Given the description of an element on the screen output the (x, y) to click on. 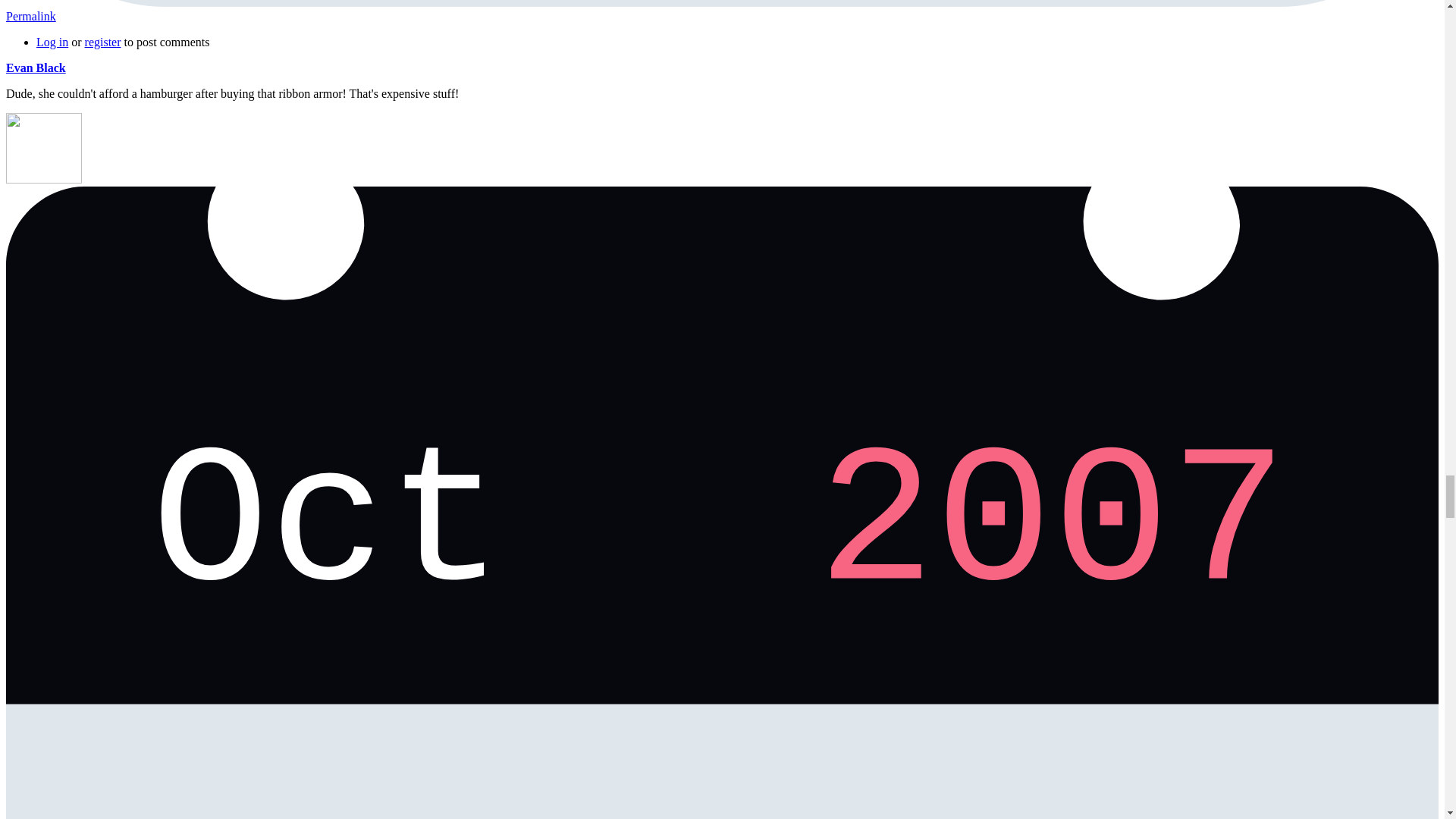
Permalink (30, 15)
Log in (52, 42)
register (102, 42)
View user profile. (35, 67)
Evan Black (35, 67)
